Given the description of an element on the screen output the (x, y) to click on. 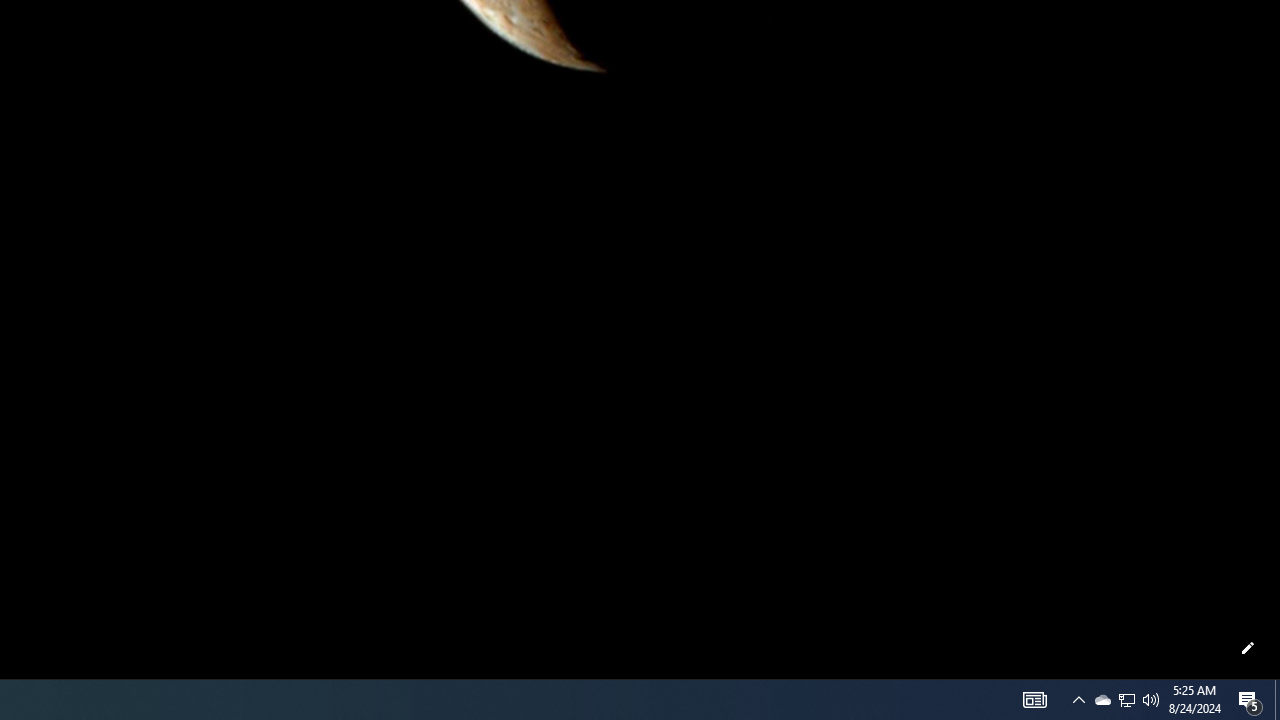
Customize this page (1247, 647)
